Given the description of an element on the screen output the (x, y) to click on. 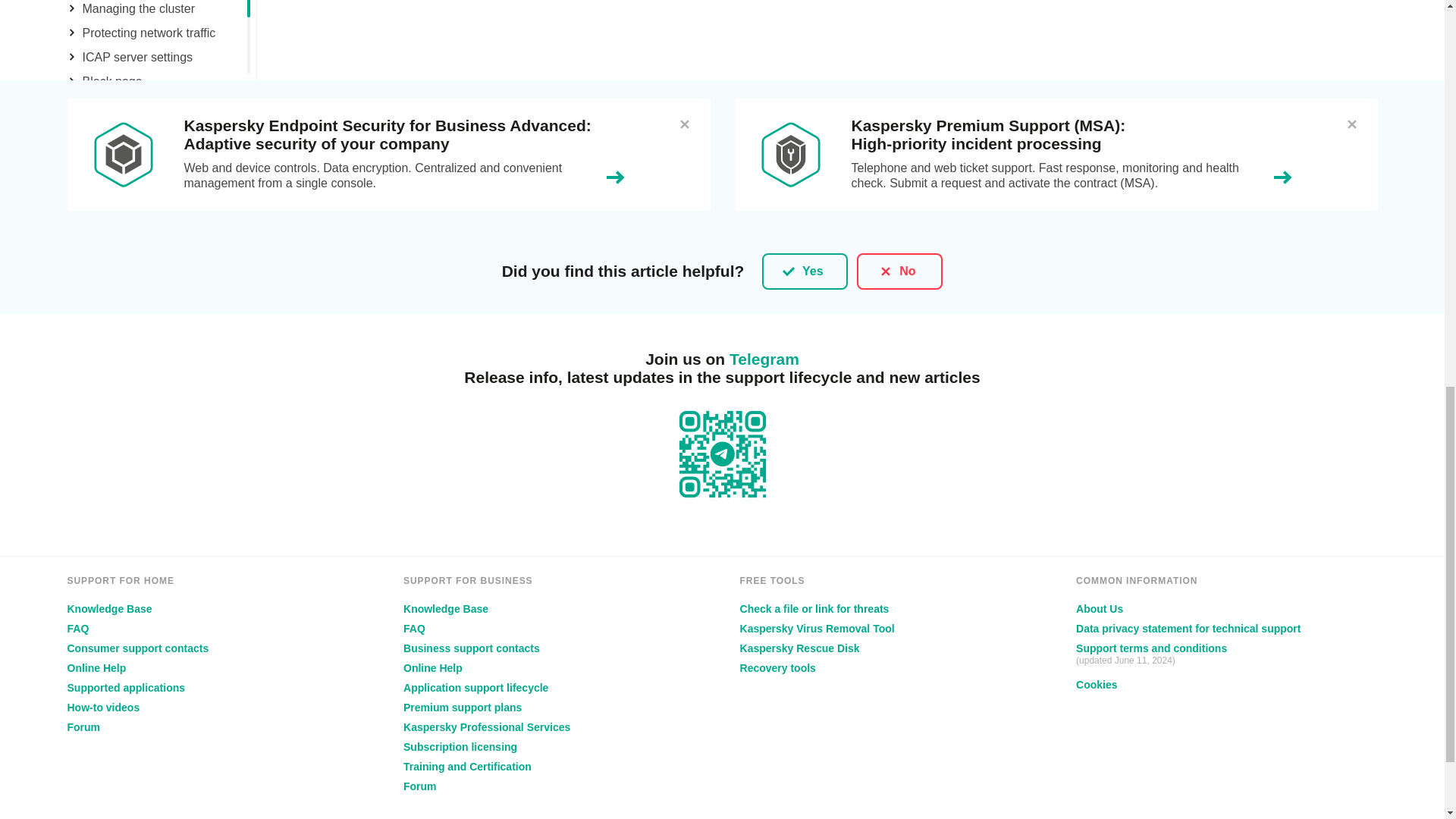
Close (1350, 124)
Close (684, 124)
